Given the description of an element on the screen output the (x, y) to click on. 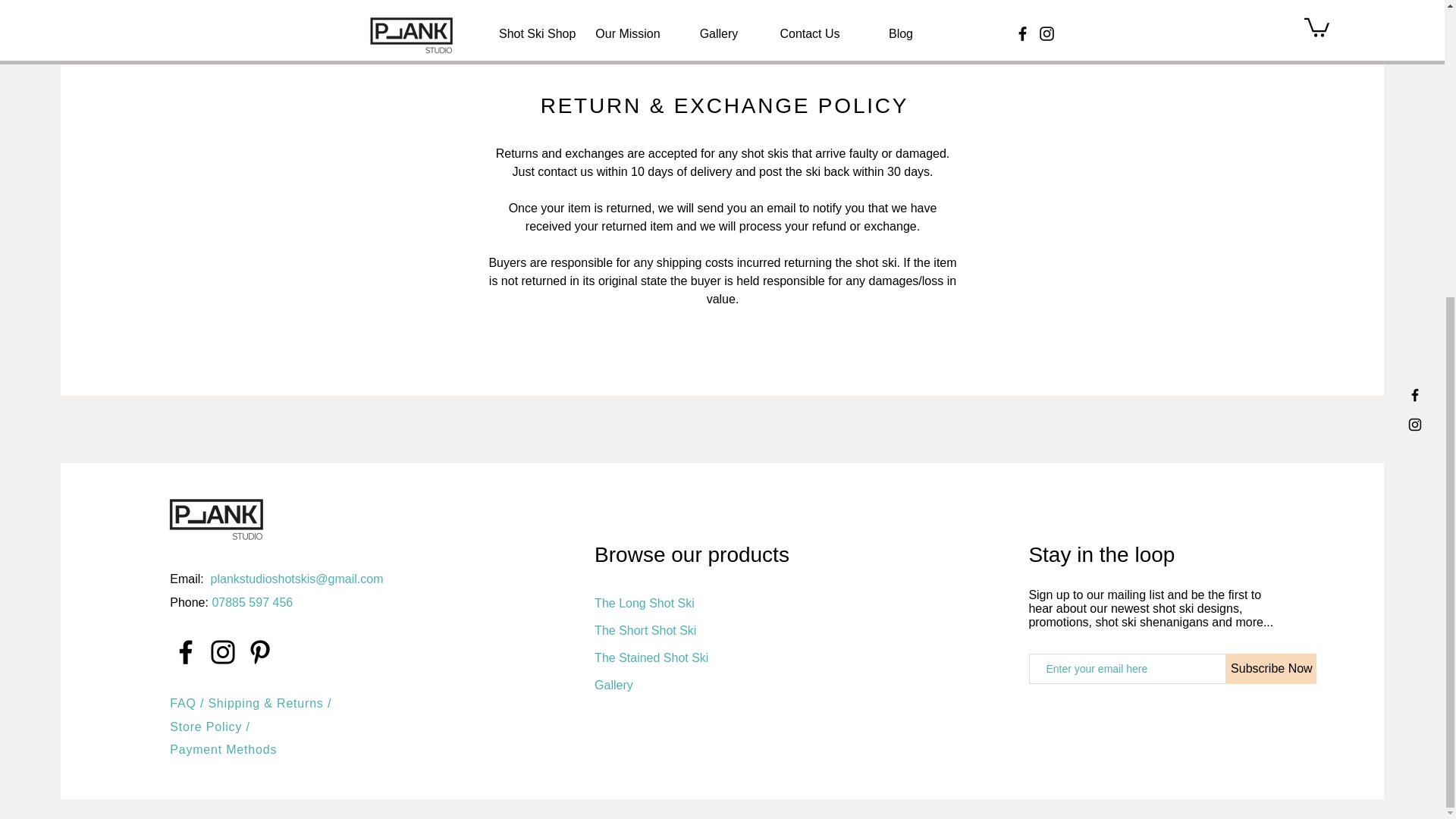
Gallery (613, 684)
Store Policy  (208, 726)
The Long Shot Ski (644, 603)
07885 597 456 (251, 602)
The Short Shot Ski (644, 630)
The Stained Shot Ski (650, 657)
Subscribe Now (1270, 668)
Plank Studio shot skis (216, 513)
Payment Methods (223, 748)
